Given the description of an element on the screen output the (x, y) to click on. 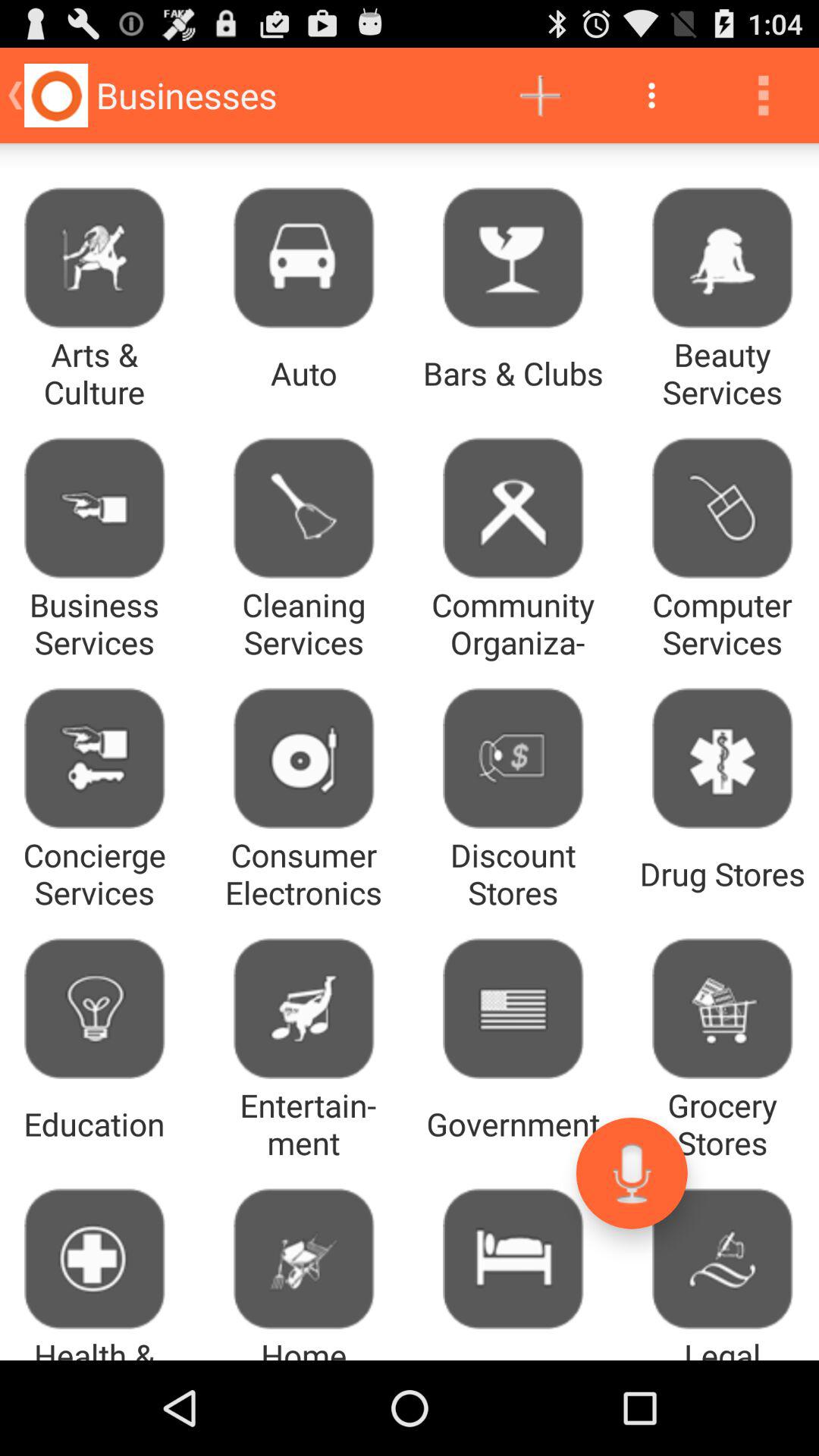
turn on the icon to the right of the entertainment icon (631, 1173)
